Given the description of an element on the screen output the (x, y) to click on. 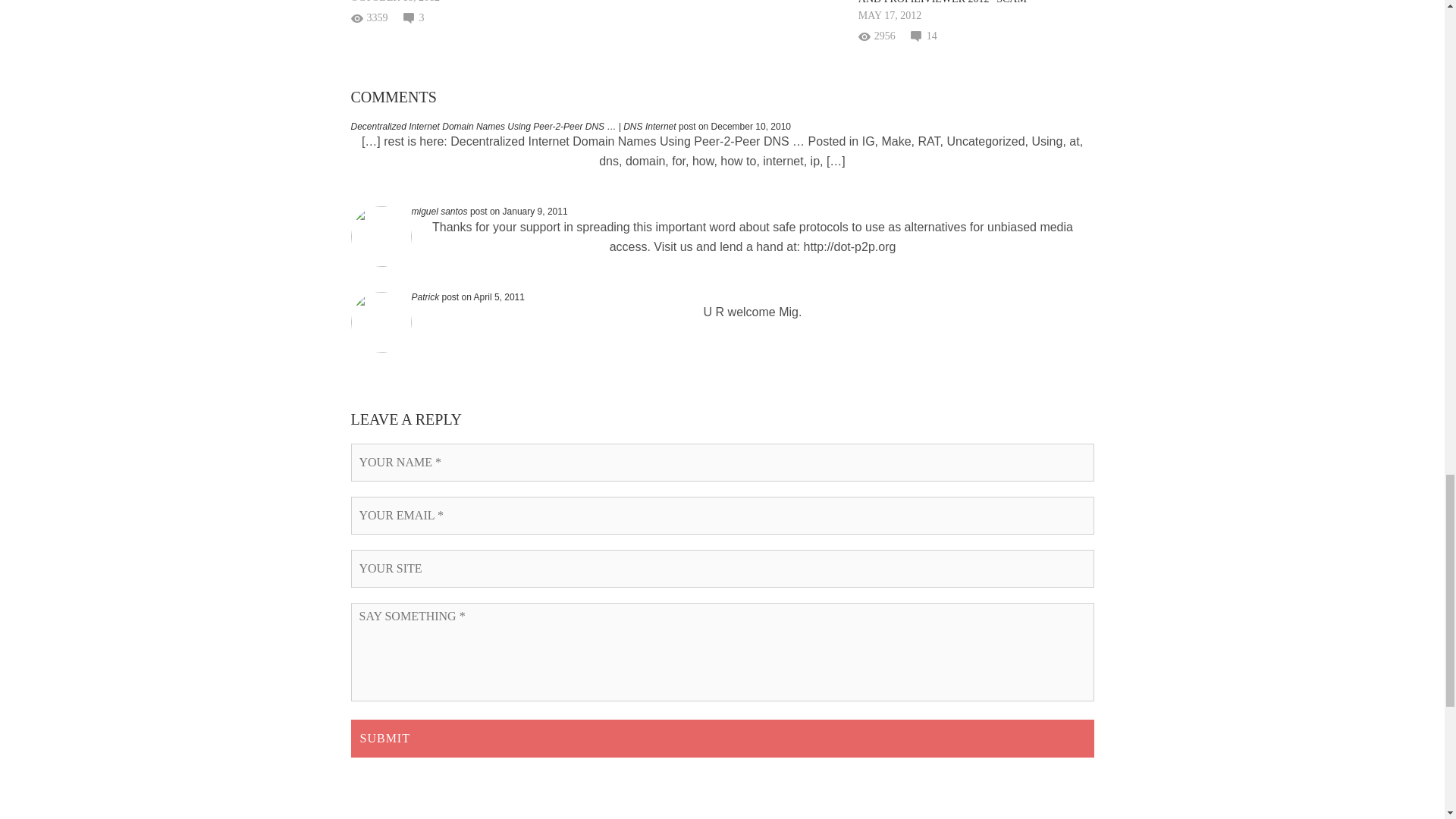
Patrick (424, 296)
SUBMIT (721, 738)
SUBMIT (721, 738)
miguel santos (438, 211)
